Given the description of an element on the screen output the (x, y) to click on. 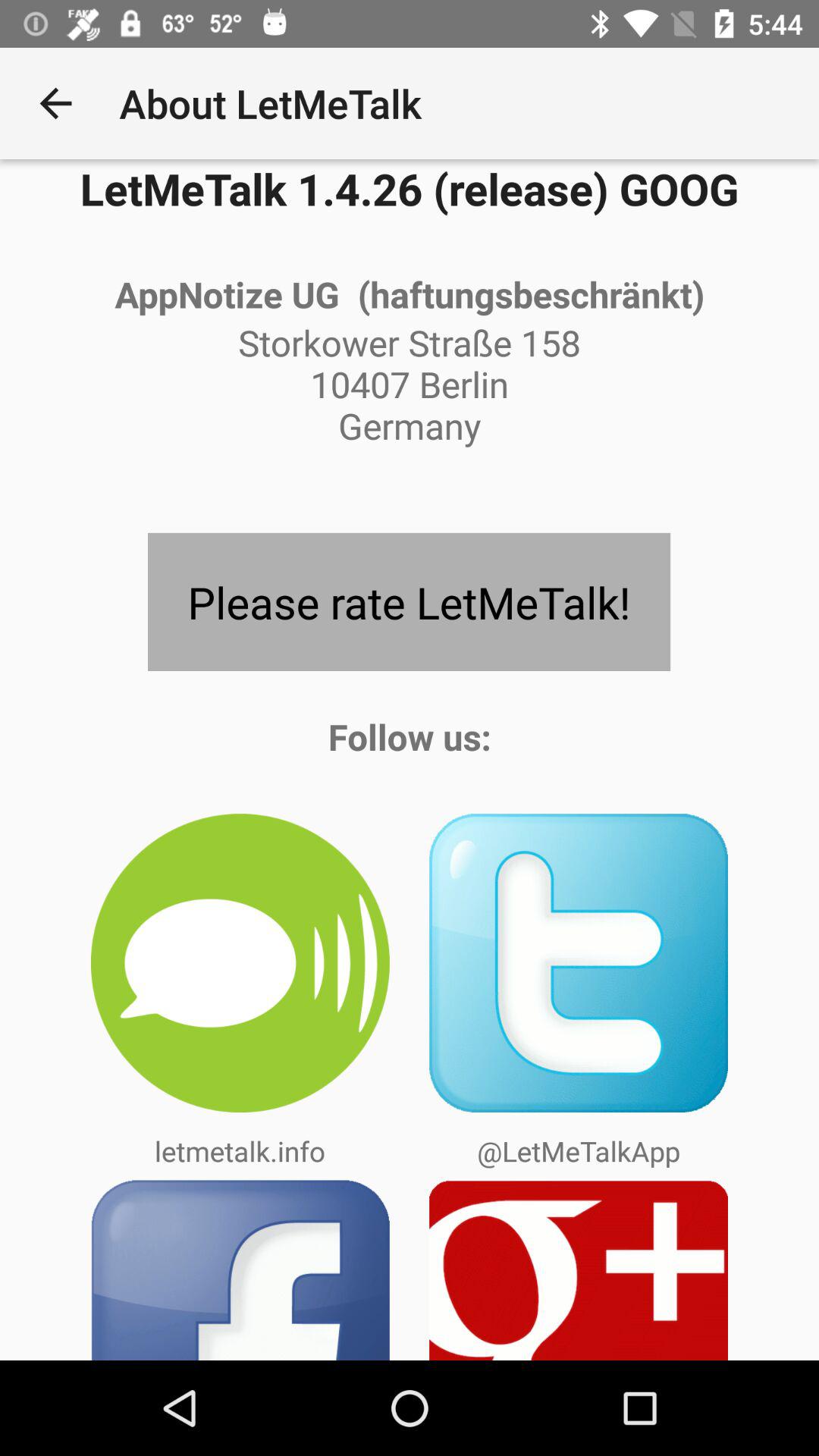
click the icon above letmetalk.info item (240, 962)
